Given the description of an element on the screen output the (x, y) to click on. 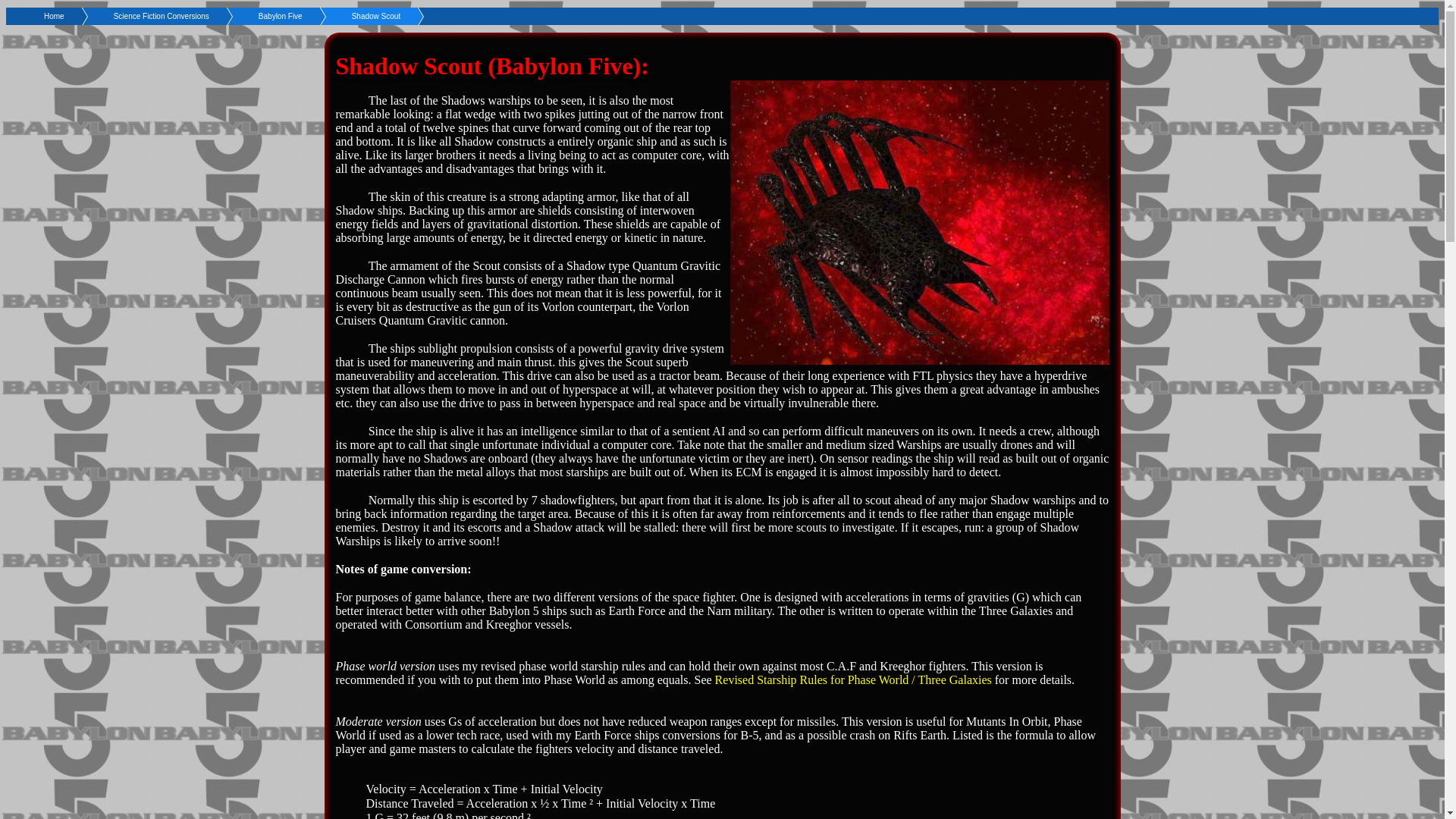
Home (50, 16)
Babylon Five (255, 16)
Science Fiction Conversions (136, 16)
Shadow Scout (351, 16)
